Given the description of an element on the screen output the (x, y) to click on. 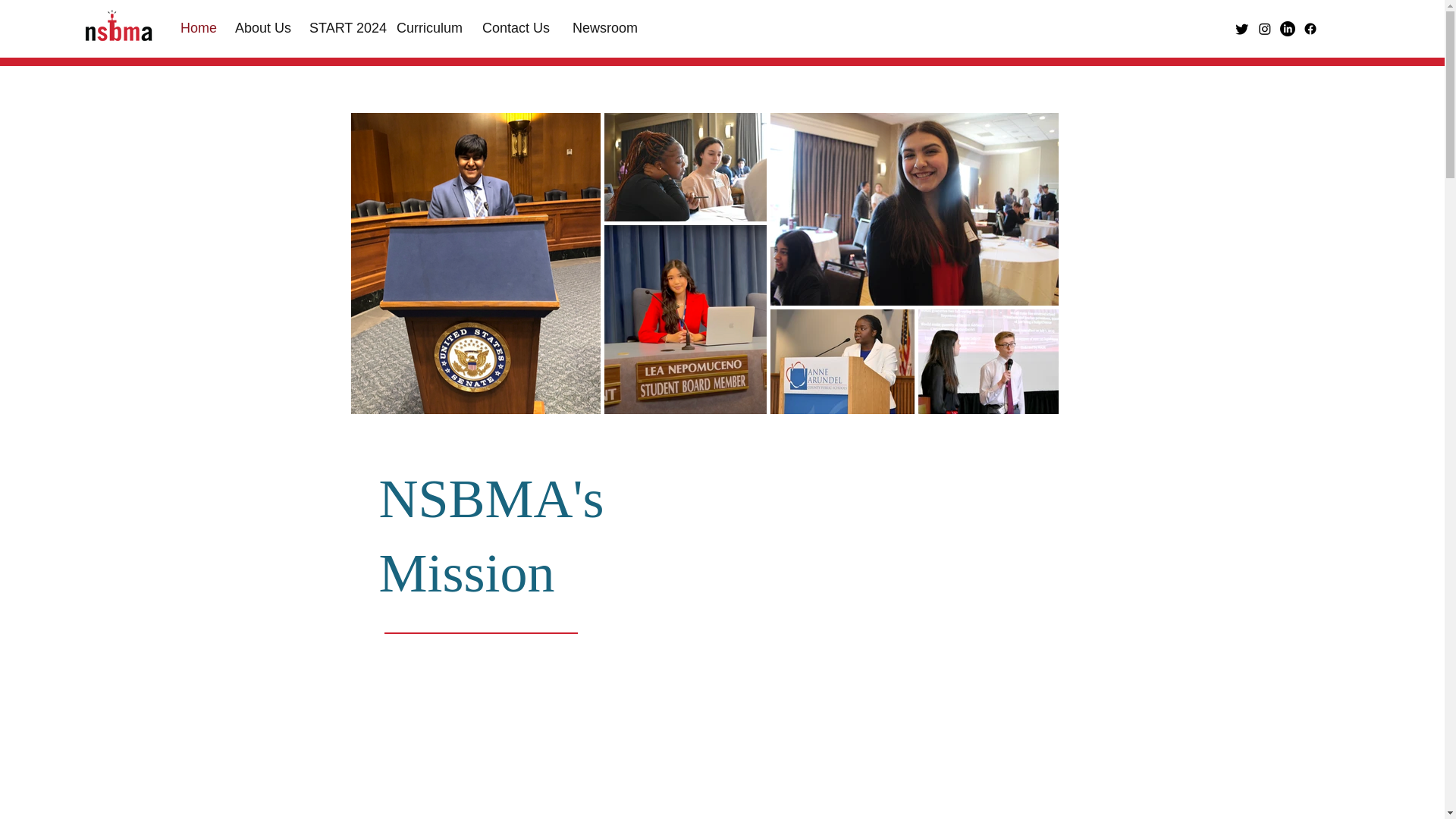
Home (200, 27)
About Us (264, 27)
START 2024 (344, 27)
Curriculum (431, 27)
Contact Us (519, 27)
Newsroom (607, 27)
